Given the description of an element on the screen output the (x, y) to click on. 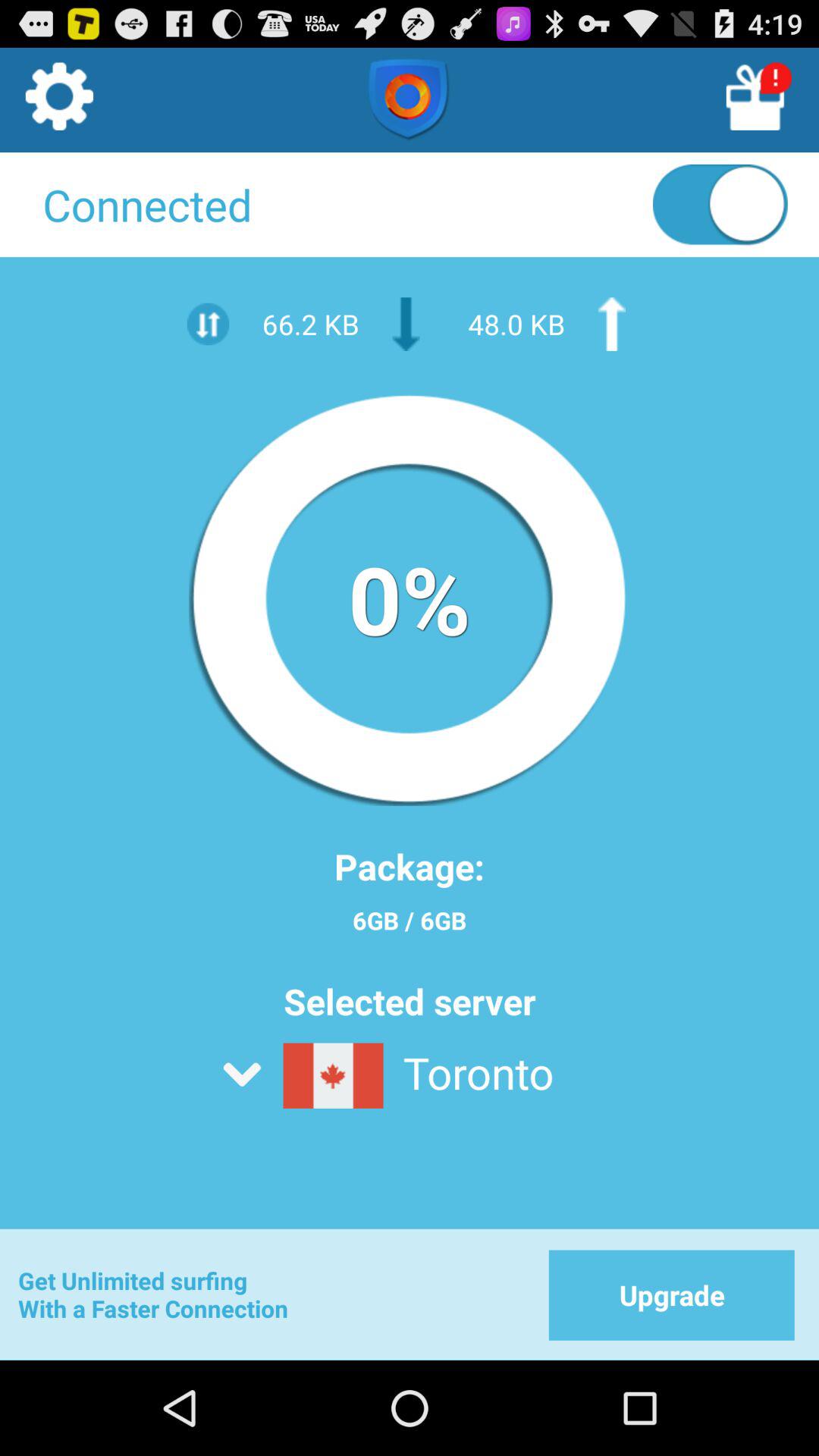
toggle connection off (720, 208)
